Given the description of an element on the screen output the (x, y) to click on. 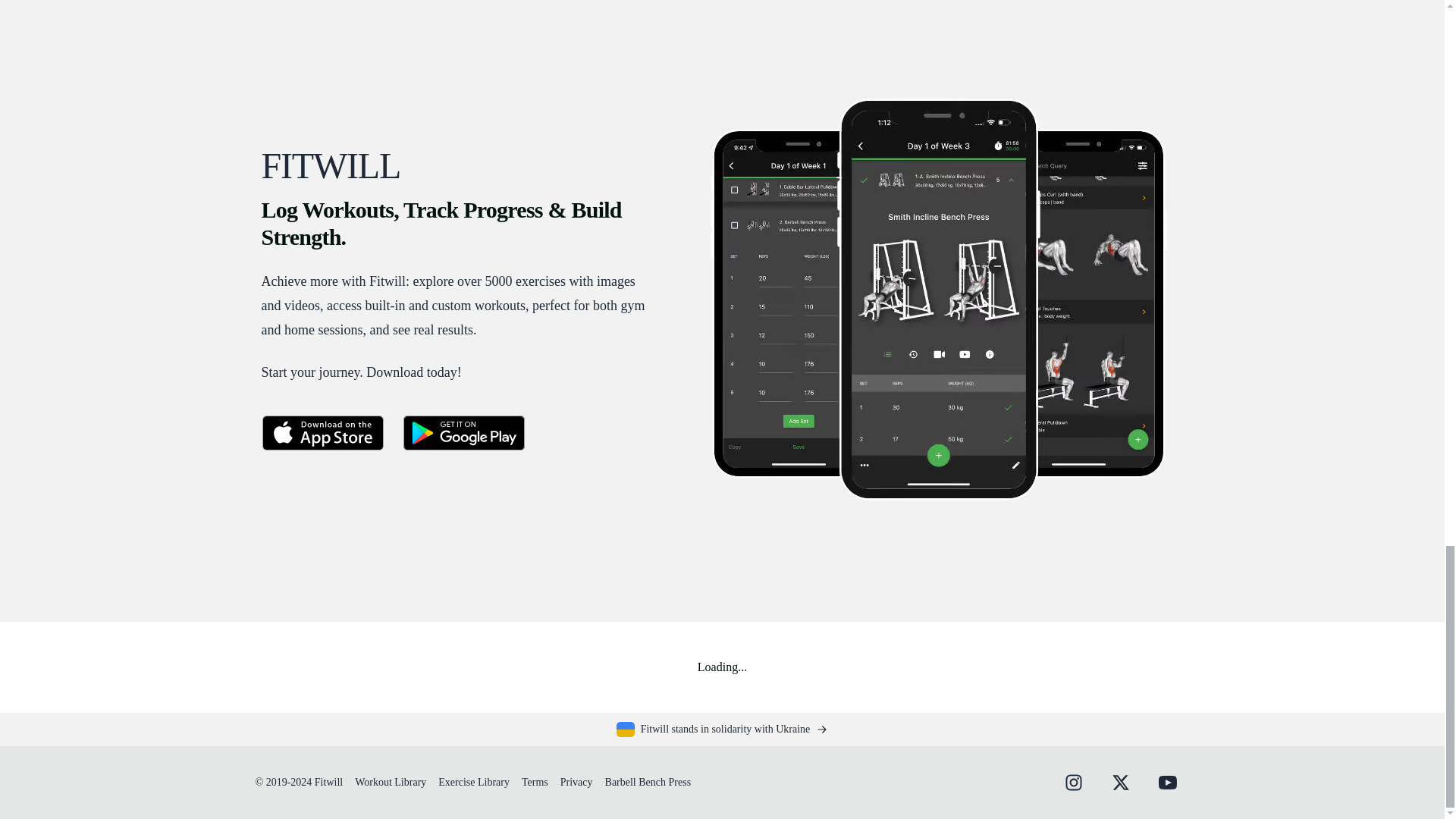
Fitwill: YouTube (1166, 782)
Barbell Bench Press (648, 781)
Fitwill: Instagram (1072, 782)
Get Fitwill on Google Play (462, 432)
Exercise Library (473, 781)
Privacy (576, 781)
Terms (534, 781)
Fitwill: X (1119, 782)
Support Ukraine (721, 729)
Download Fitwill on the App Store (322, 432)
